Given the description of an element on the screen output the (x, y) to click on. 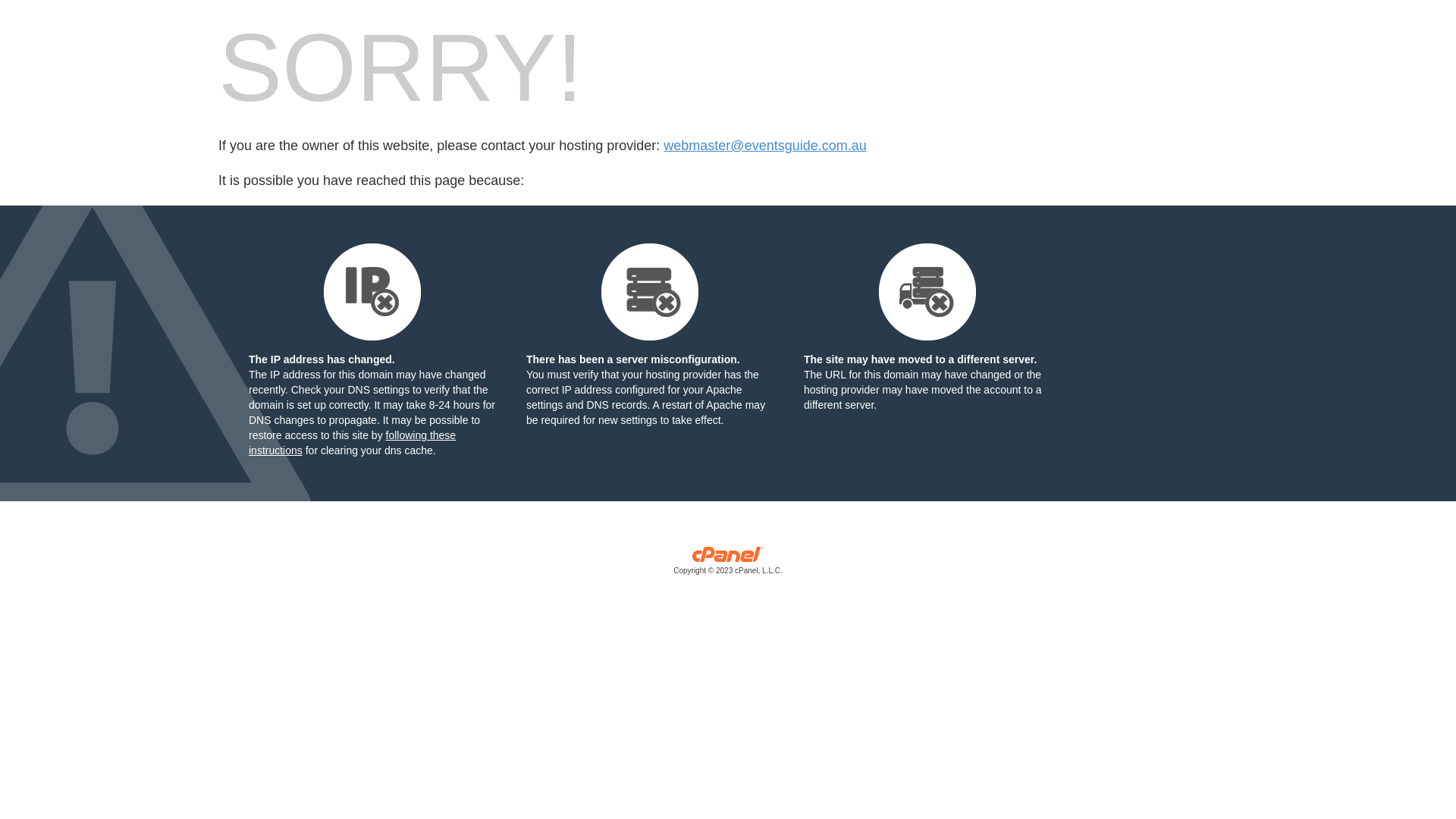
following these instructions Element type: text (351, 442)
webmaster@eventsguide.com.au Element type: text (764, 145)
